Given the description of an element on the screen output the (x, y) to click on. 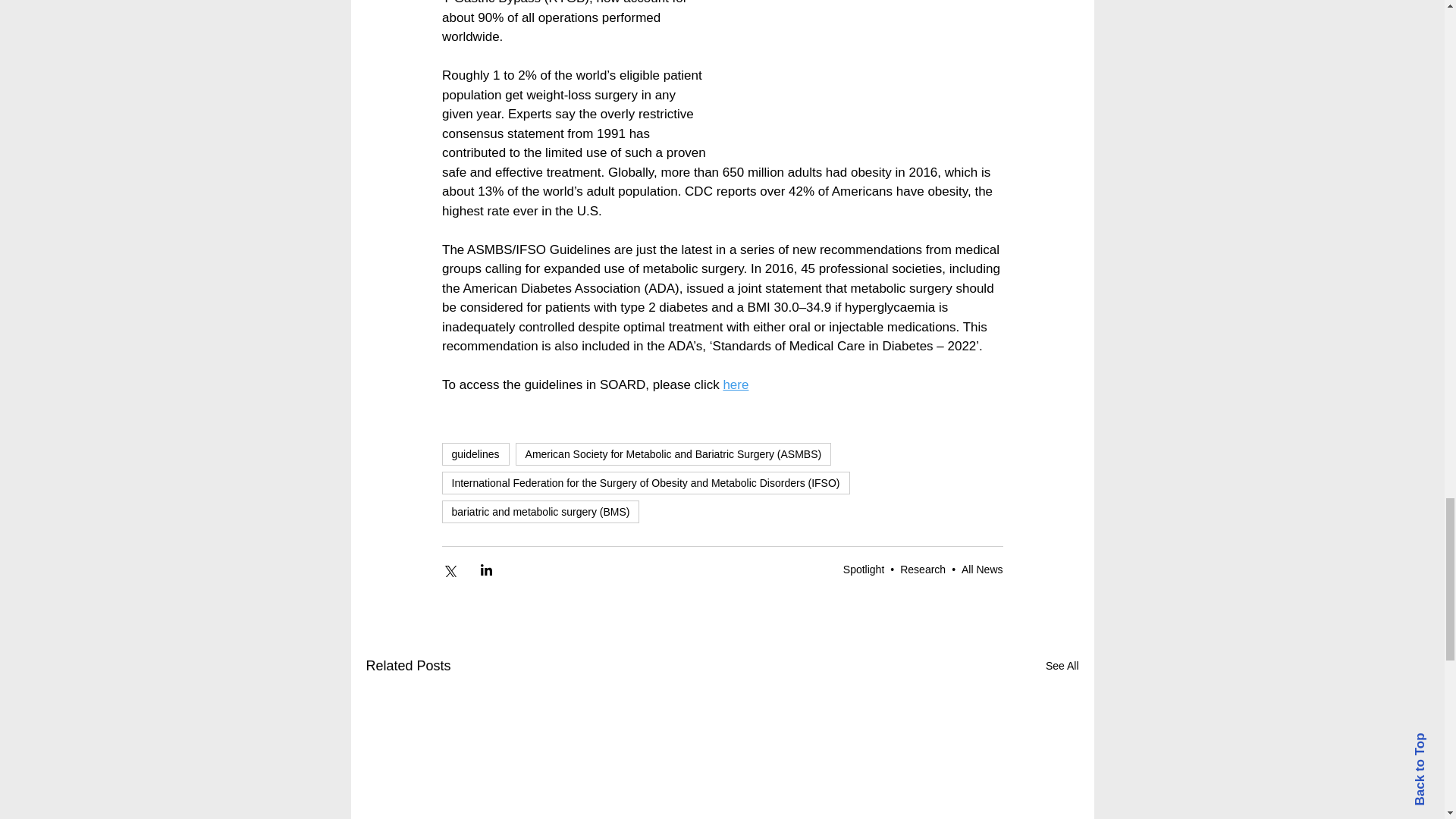
All News (981, 569)
here (735, 384)
Spotlight (863, 569)
guidelines (474, 454)
See All (1061, 666)
Research (921, 569)
